Given the description of an element on the screen output the (x, y) to click on. 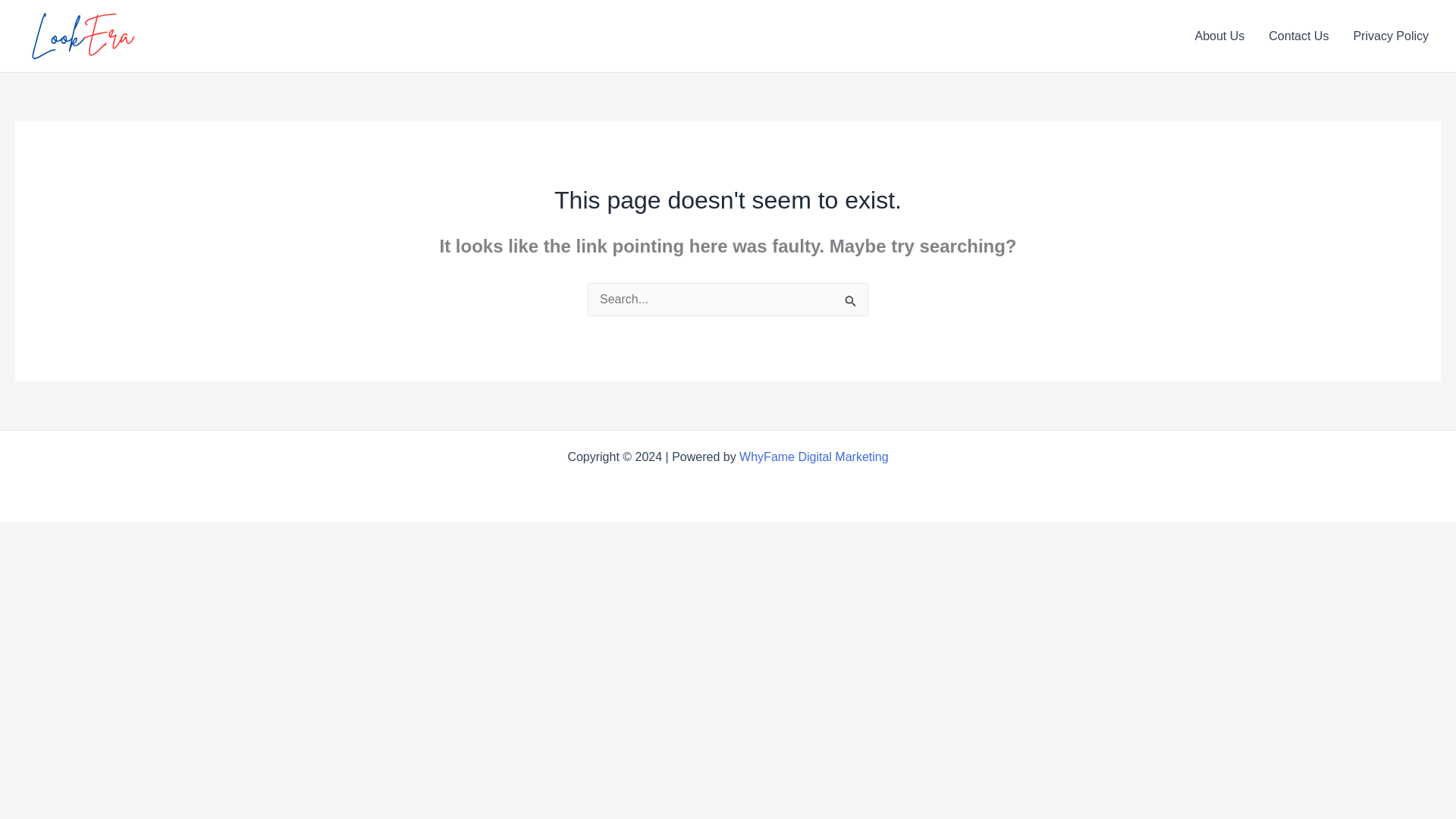
Privacy Policy (1390, 35)
About Us (1219, 35)
Contact Us (1298, 35)
WhyFame Digital Marketing (813, 456)
